Given the description of an element on the screen output the (x, y) to click on. 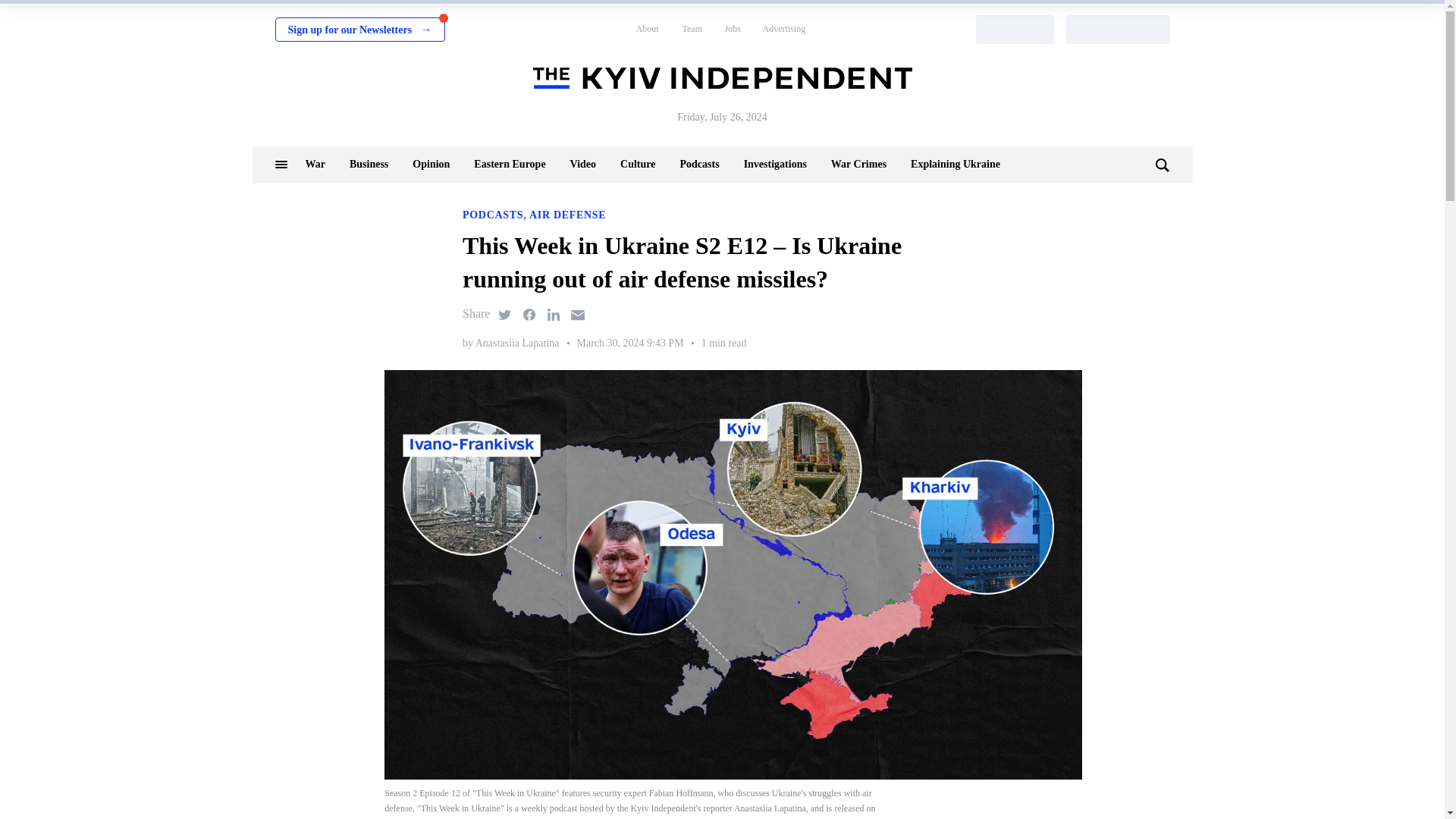
Business (368, 163)
Explaining Ukraine (955, 163)
Team (691, 28)
Opinion (430, 163)
About (646, 28)
Culture (637, 163)
Advertising (784, 28)
War (314, 163)
Investigations (775, 163)
Podcasts (699, 163)
Video (582, 163)
Eastern Europe (509, 163)
Jobs (733, 28)
War Crimes (858, 163)
